Given the description of an element on the screen output the (x, y) to click on. 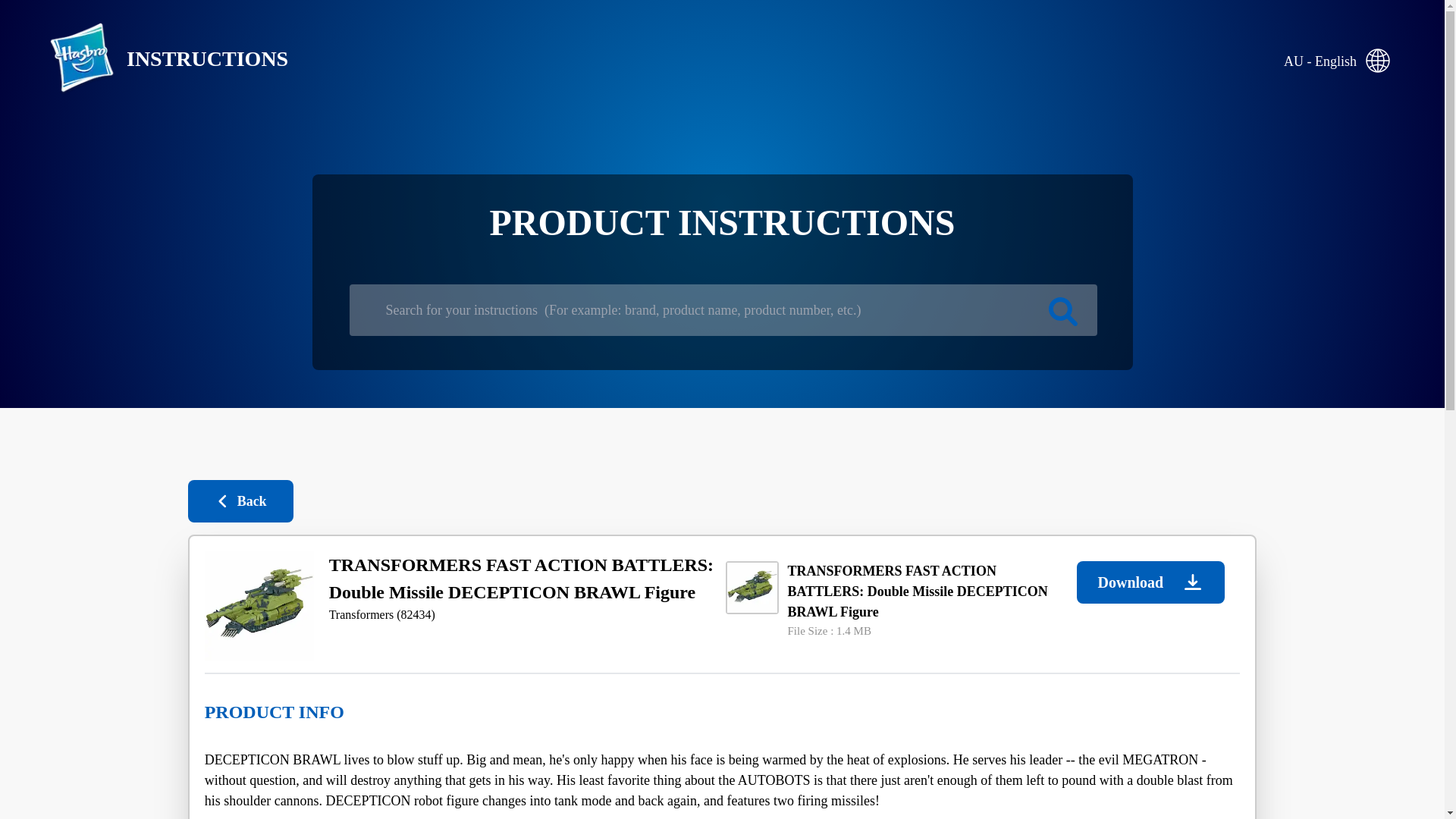
Download (1150, 582)
INSTRUCTIONS (156, 59)
Back (240, 500)
